Given the description of an element on the screen output the (x, y) to click on. 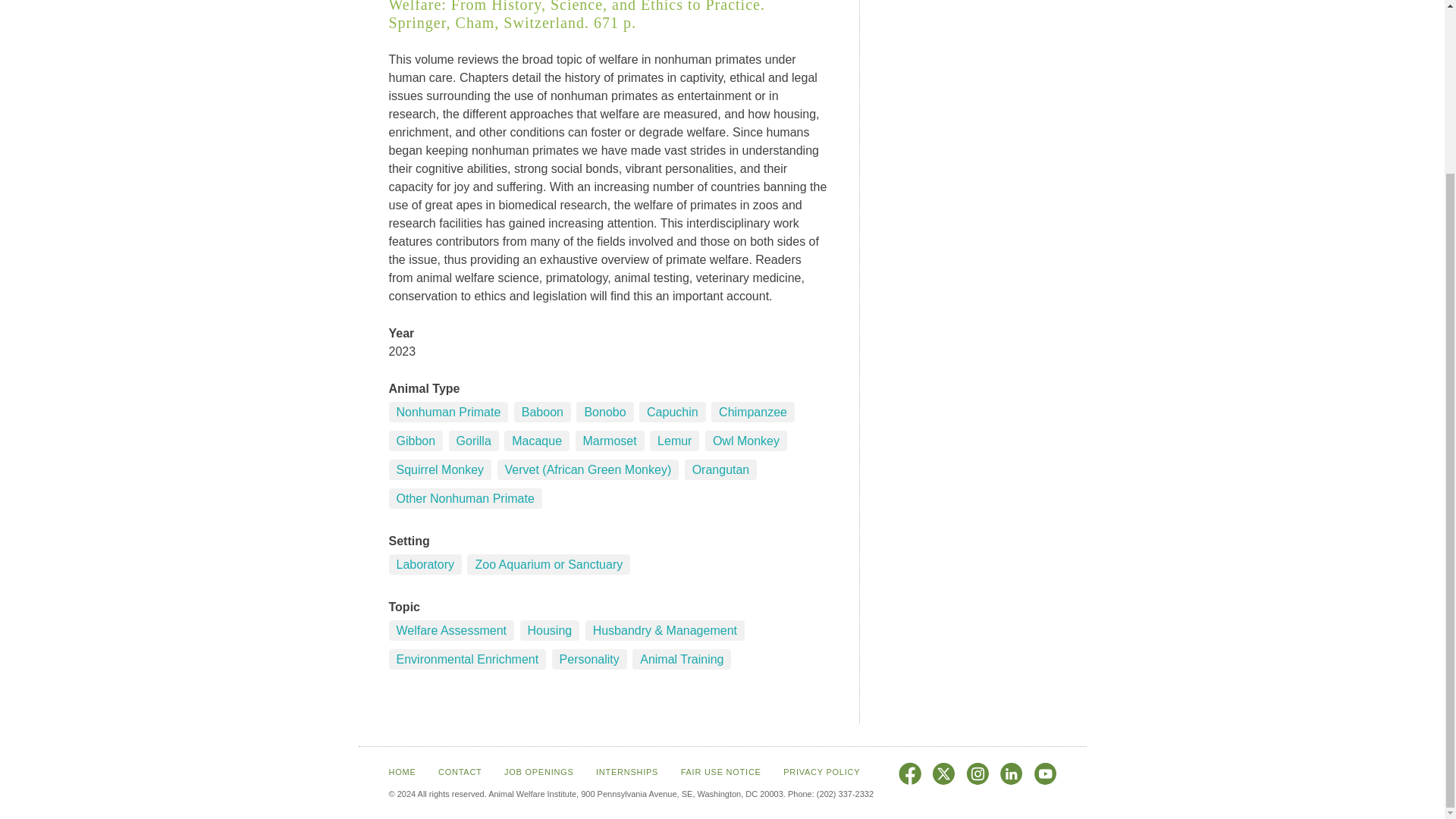
Privacy Policy (821, 771)
Fair Use Notice (721, 771)
Home (401, 771)
